Given the description of an element on the screen output the (x, y) to click on. 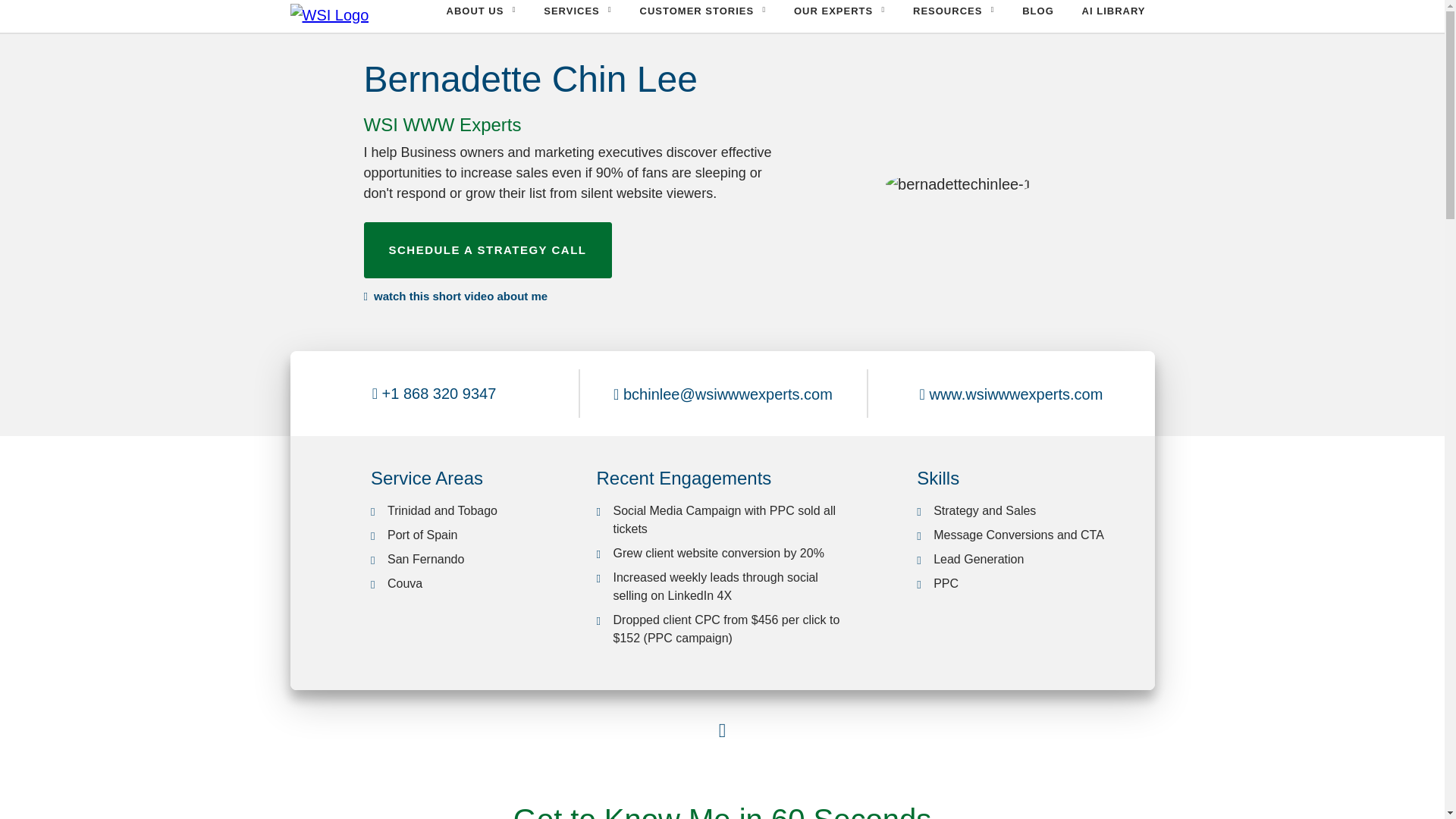
WSI Logo (328, 15)
ABOUT US (480, 11)
AI LIBRARY (1113, 11)
www.wsiwwwexperts.com (1010, 393)
watch this short video about me (456, 296)
BLOG (1037, 11)
SCHEDULE A STRATEGY CALL (487, 249)
